Given the description of an element on the screen output the (x, y) to click on. 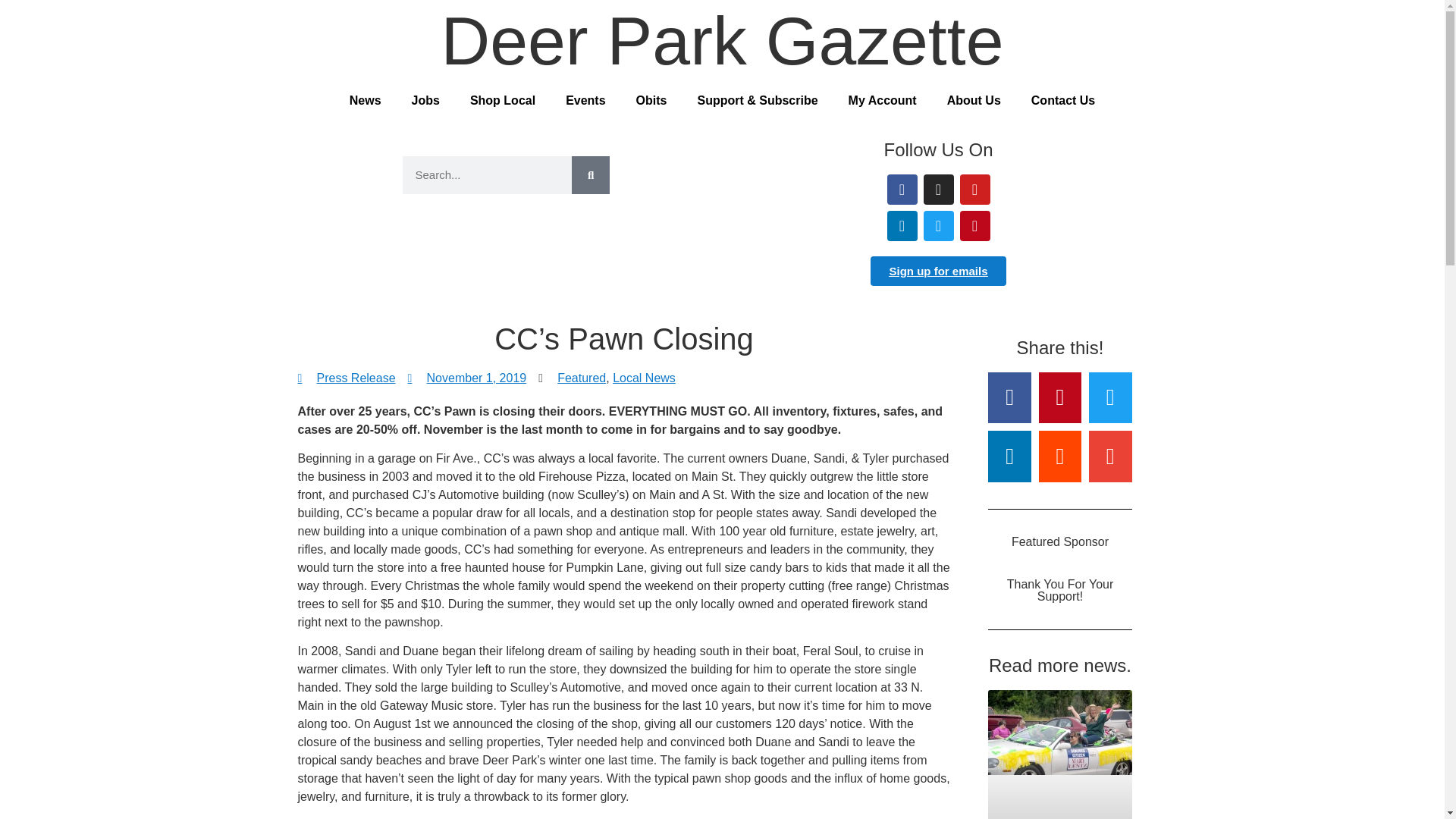
Contact Us (1062, 100)
Jobs (425, 100)
About Us (973, 100)
Obits (651, 100)
Shop Local (502, 100)
My Account (881, 100)
News (365, 100)
Events (585, 100)
